Given the description of an element on the screen output the (x, y) to click on. 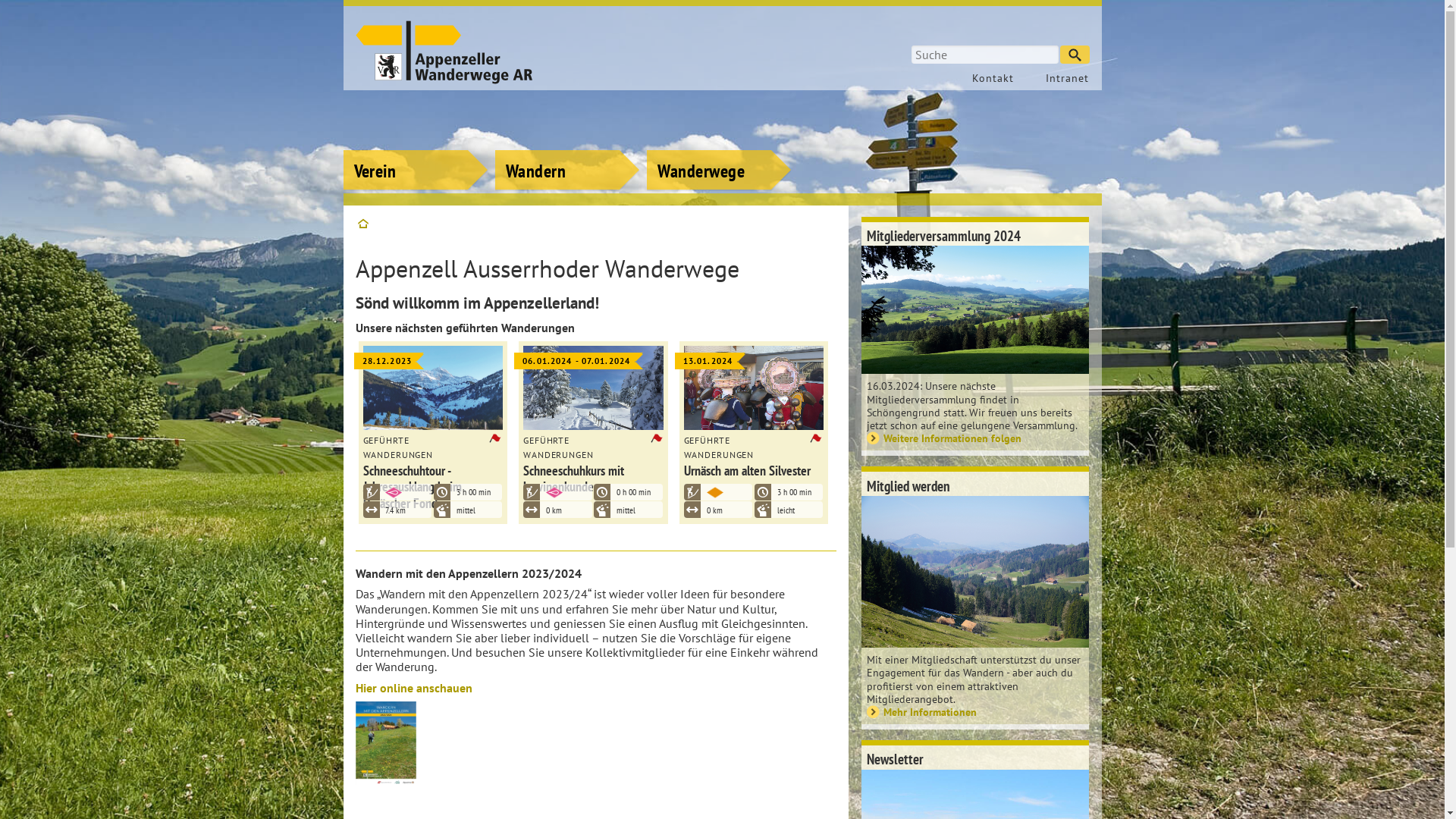
Suchen Element type: text (1074, 54)
Mitgliederversammlung 2024 Element type: text (974, 234)
Mitglied werden Element type: text (974, 483)
Wanderwege Element type: text (718, 147)
Hier online anschauen Element type: text (412, 687)
Mehr Informationen Element type: text (974, 711)
Newsletter Element type: text (974, 757)
Verein Element type: text (414, 147)
Wandern Element type: text (567, 147)
Weitere Informationen folgen Element type: text (974, 437)
Kontakt Element type: text (988, 77)
Intranet Element type: text (1058, 77)
